Given the description of an element on the screen output the (x, y) to click on. 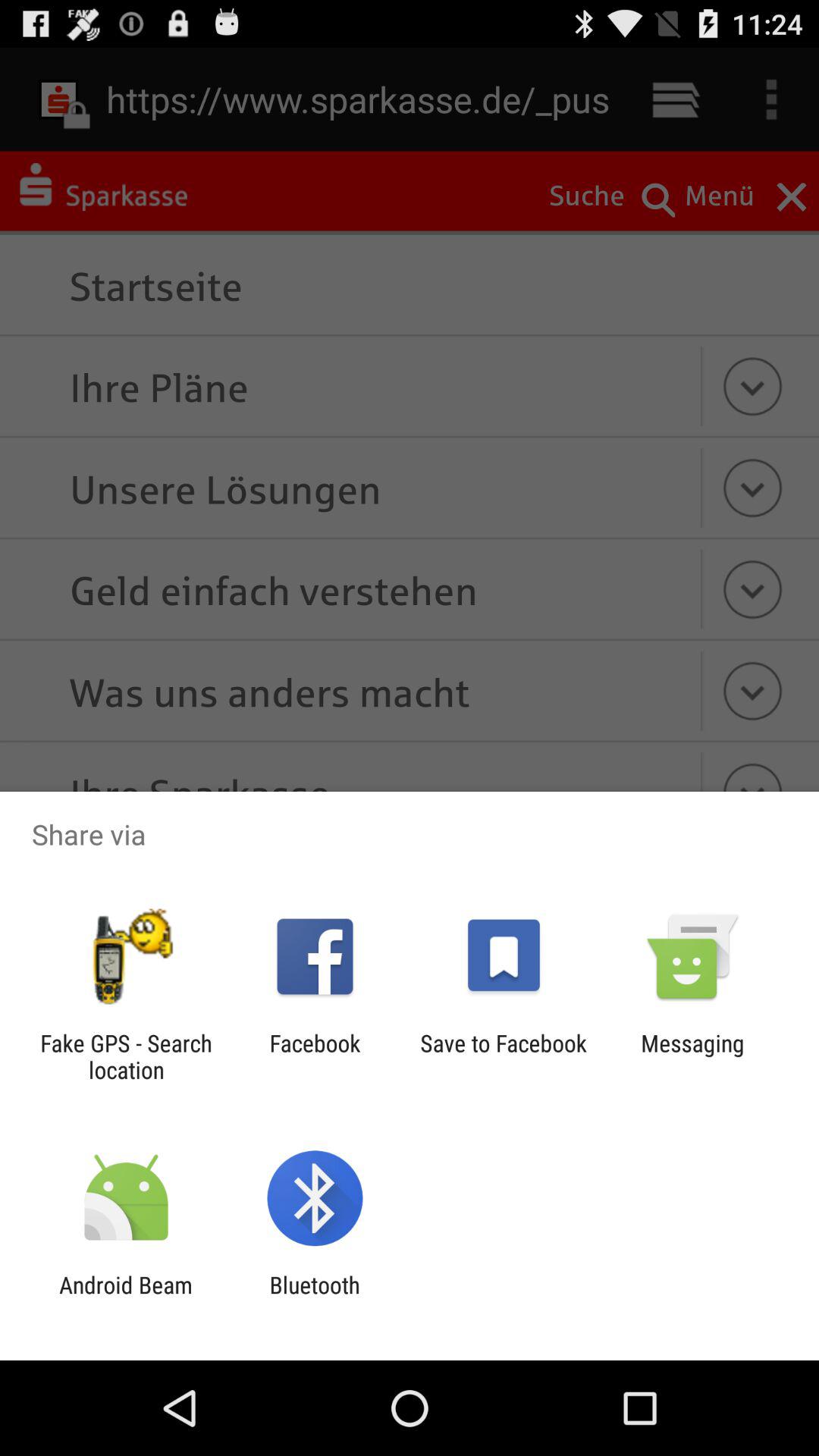
press the fake gps search (125, 1056)
